Given the description of an element on the screen output the (x, y) to click on. 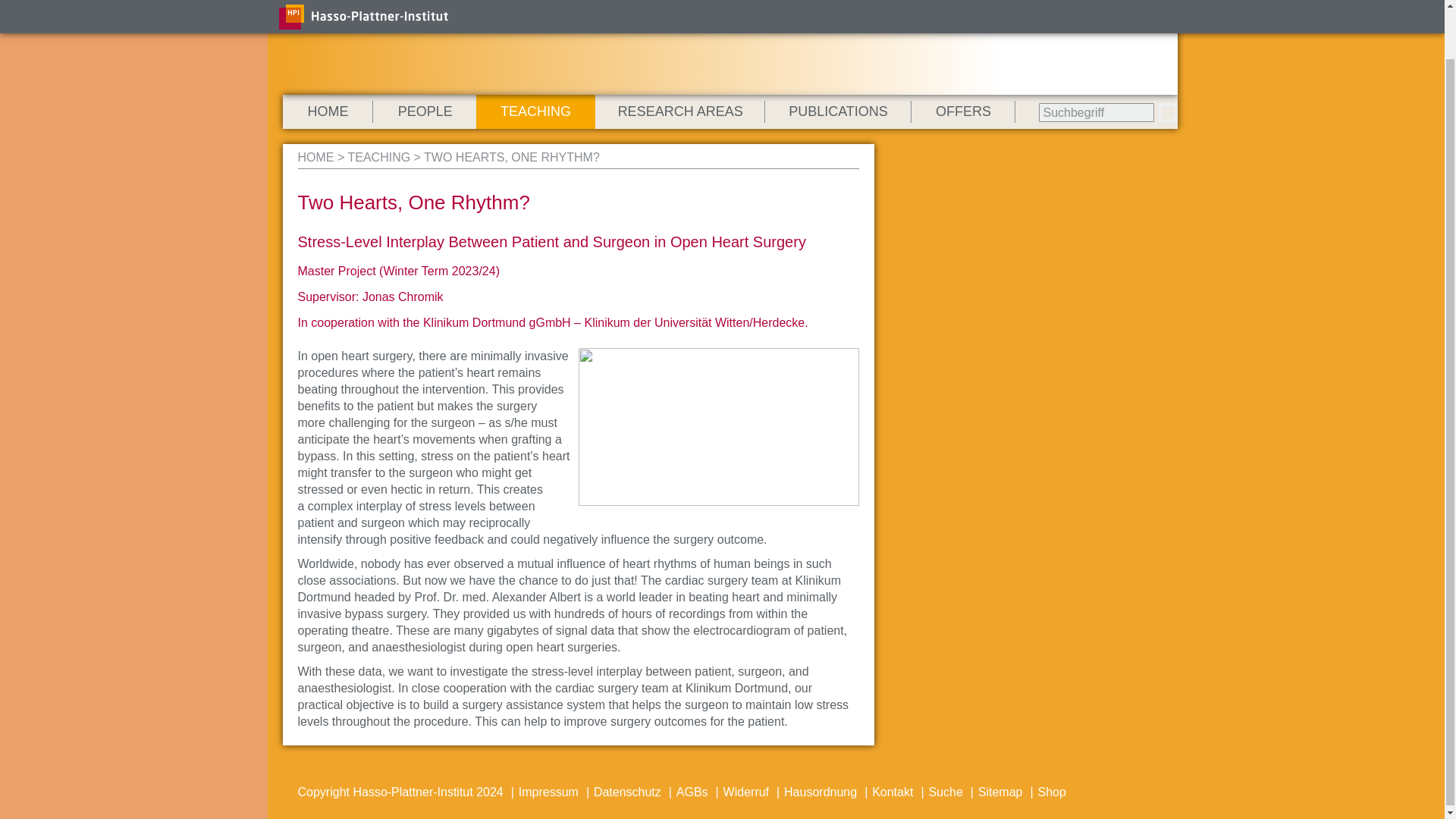
TEACHING (535, 111)
SUCHEN (1167, 112)
AGBs (692, 791)
HOME (315, 156)
Widerruf (745, 791)
Kontakt (892, 791)
Hausordnung (820, 791)
Teaching (378, 156)
OFFERS (963, 111)
PUBLICATIONS (838, 111)
